Given the description of an element on the screen output the (x, y) to click on. 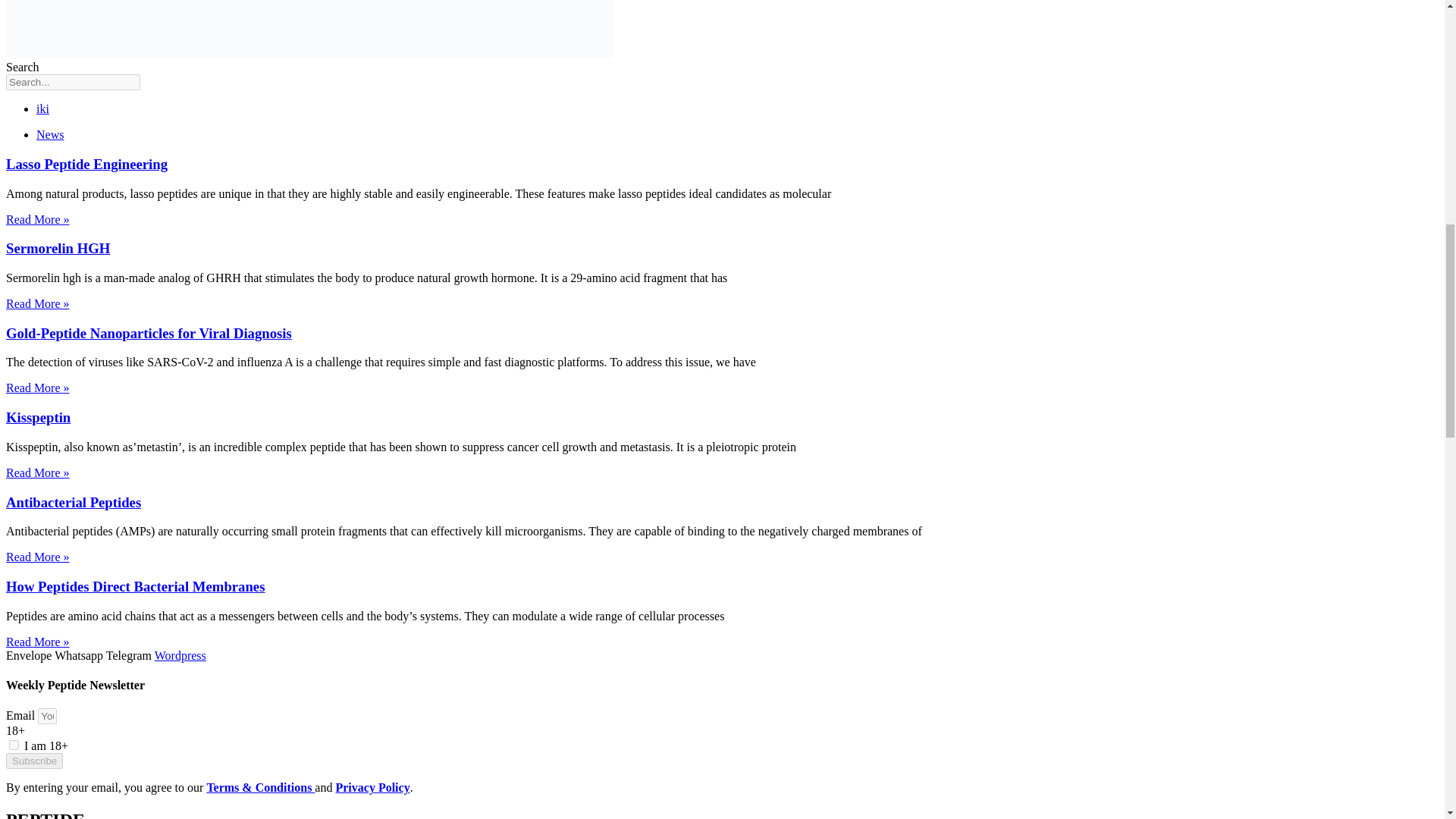
on (13, 745)
Antibacterial Peptides (73, 502)
Gold-Peptide Nanoparticles for Viral Diagnosis (148, 333)
Sermorelin HGH (57, 248)
Kisspeptin (37, 417)
News (50, 133)
Lasso Peptide Engineering (86, 163)
iki (42, 108)
Search (72, 82)
